Given the description of an element on the screen output the (x, y) to click on. 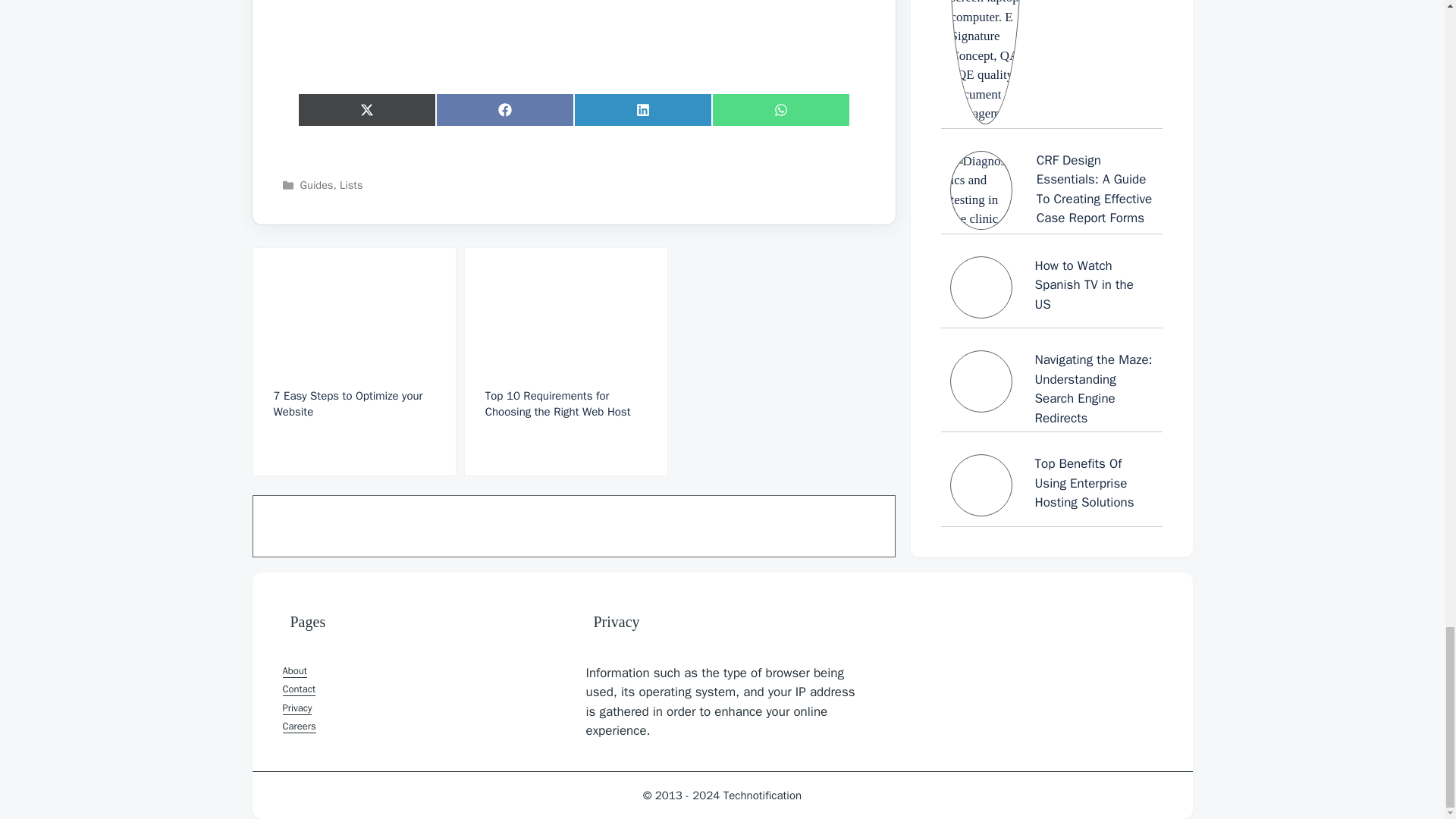
Top 10 Requirements for Choosing the Right Web Host (566, 361)
SHARE ON LINKEDIN (642, 109)
SHARE ON WHATSAPP (779, 109)
Guides (316, 184)
Top 10 Requirements for Choosing the Right Web Host (566, 361)
7 Easy Steps to Optimize your Website (353, 361)
7 Easy Steps to Optimize your Website (353, 361)
SHARE ON FACEBOOK (504, 109)
Lists (350, 184)
